Given the description of an element on the screen output the (x, y) to click on. 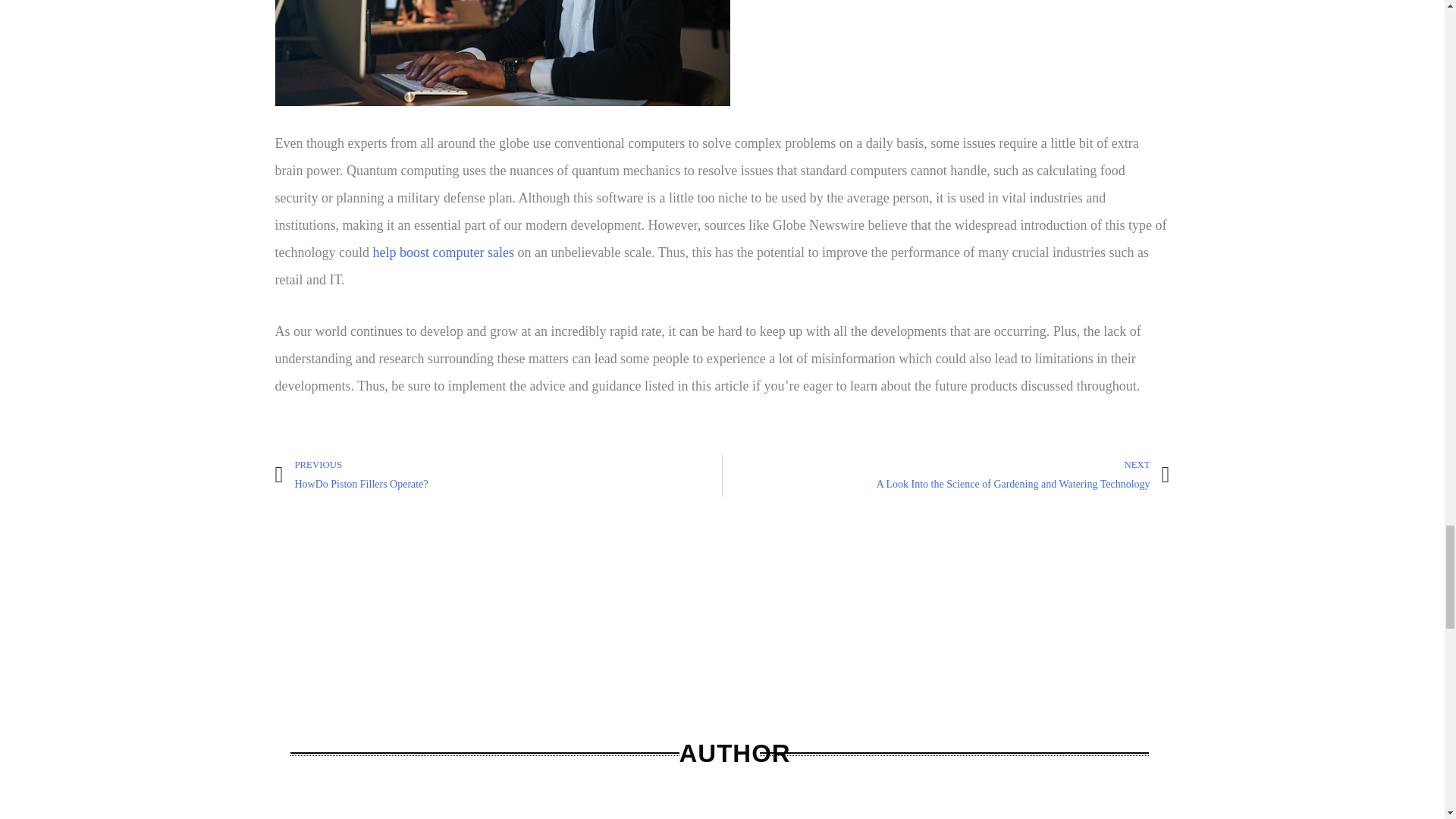
help boost computer sales (498, 475)
